Given the description of an element on the screen output the (x, y) to click on. 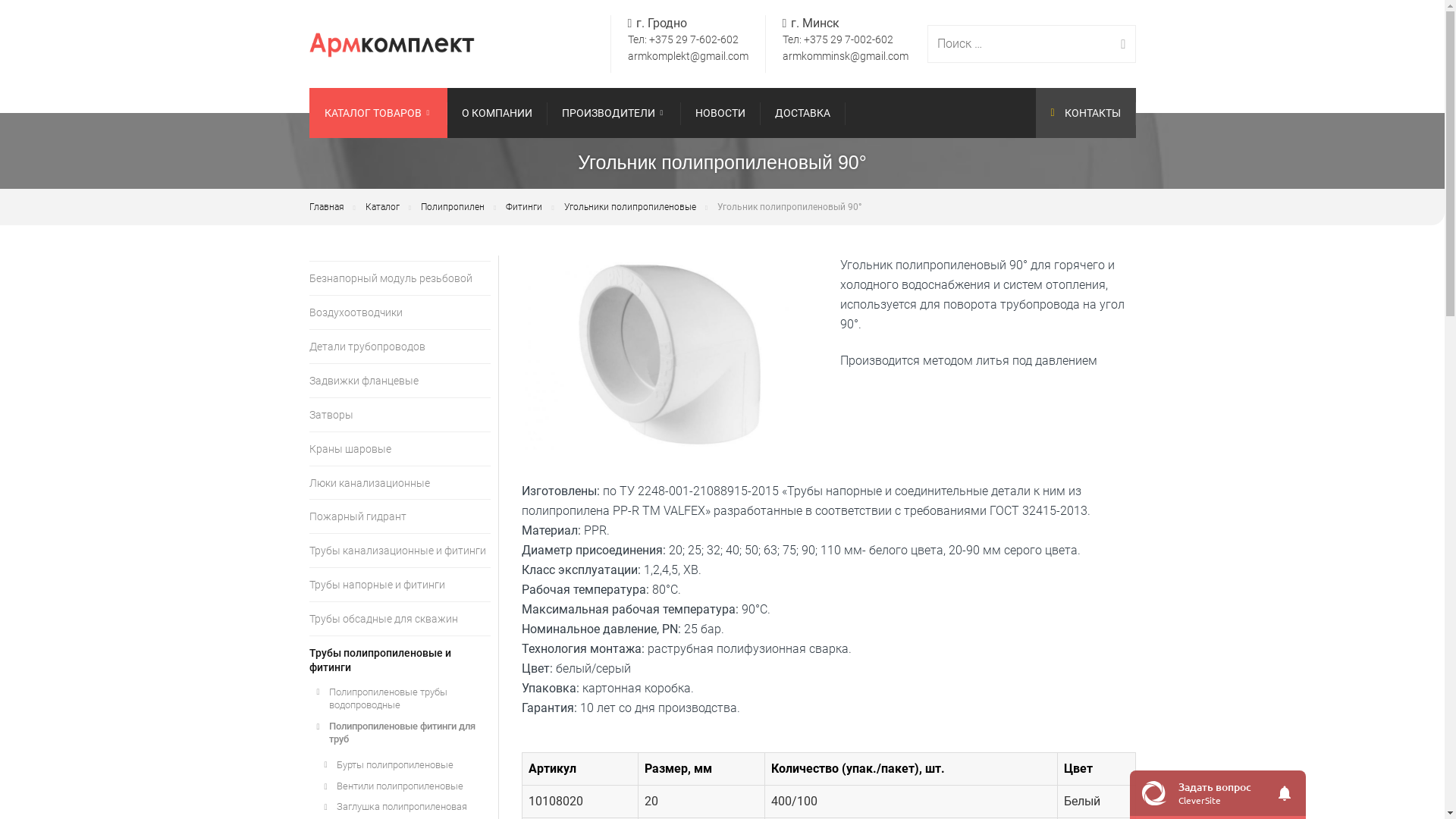
armkomplekt@gmail.com Element type: text (687, 56)
armkomminsk@gmail.com Element type: text (845, 56)
